Given the description of an element on the screen output the (x, y) to click on. 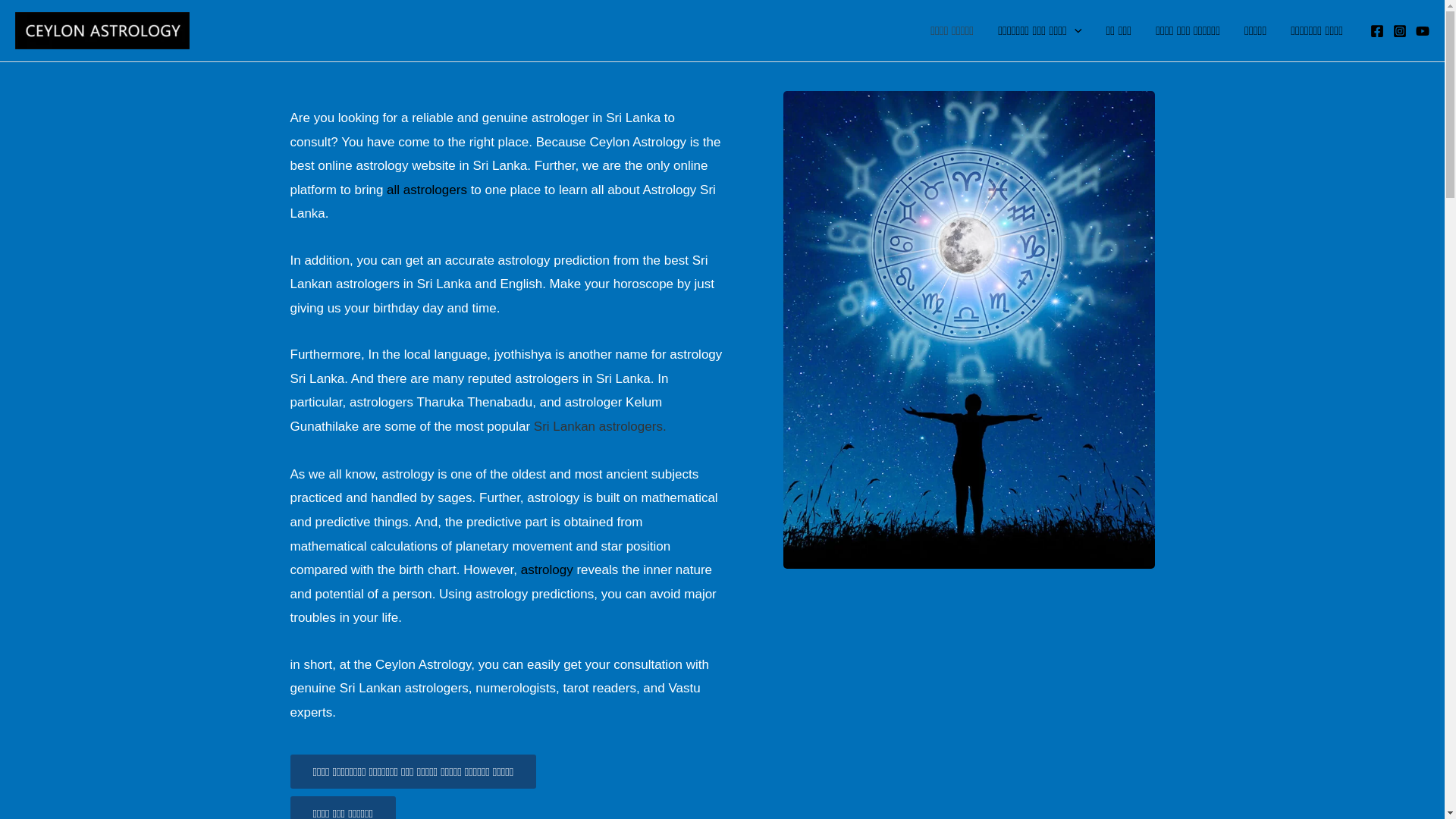
all astrologers (428, 189)
Sri Lankan astrologers (595, 426)
astrology (547, 569)
